Given the description of an element on the screen output the (x, y) to click on. 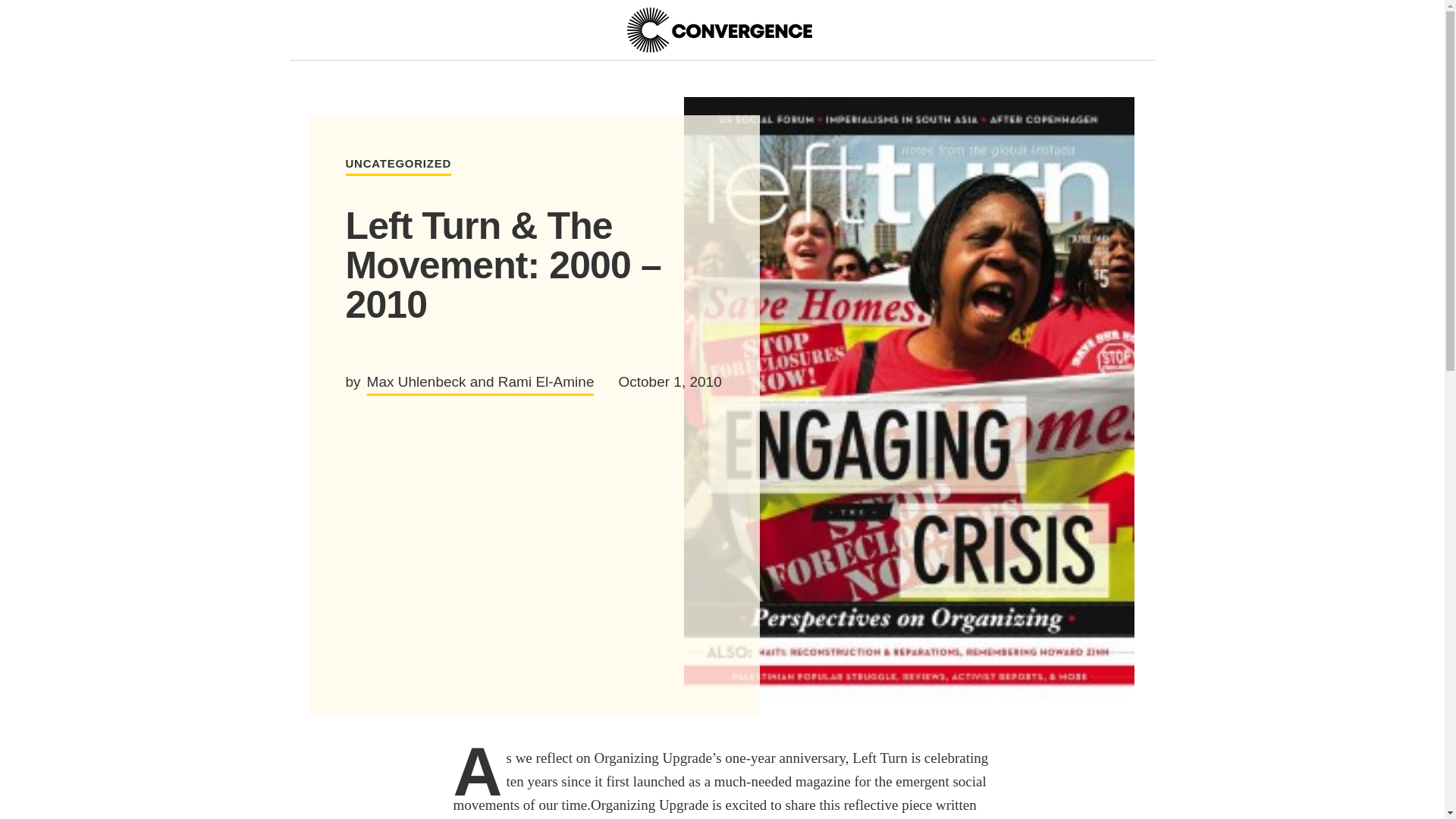
Convergence "C" logo with text (718, 30)
UNCATEGORIZED (718, 30)
Max Uhlenbeck and Rami El-Amine (398, 167)
